Given the description of an element on the screen output the (x, y) to click on. 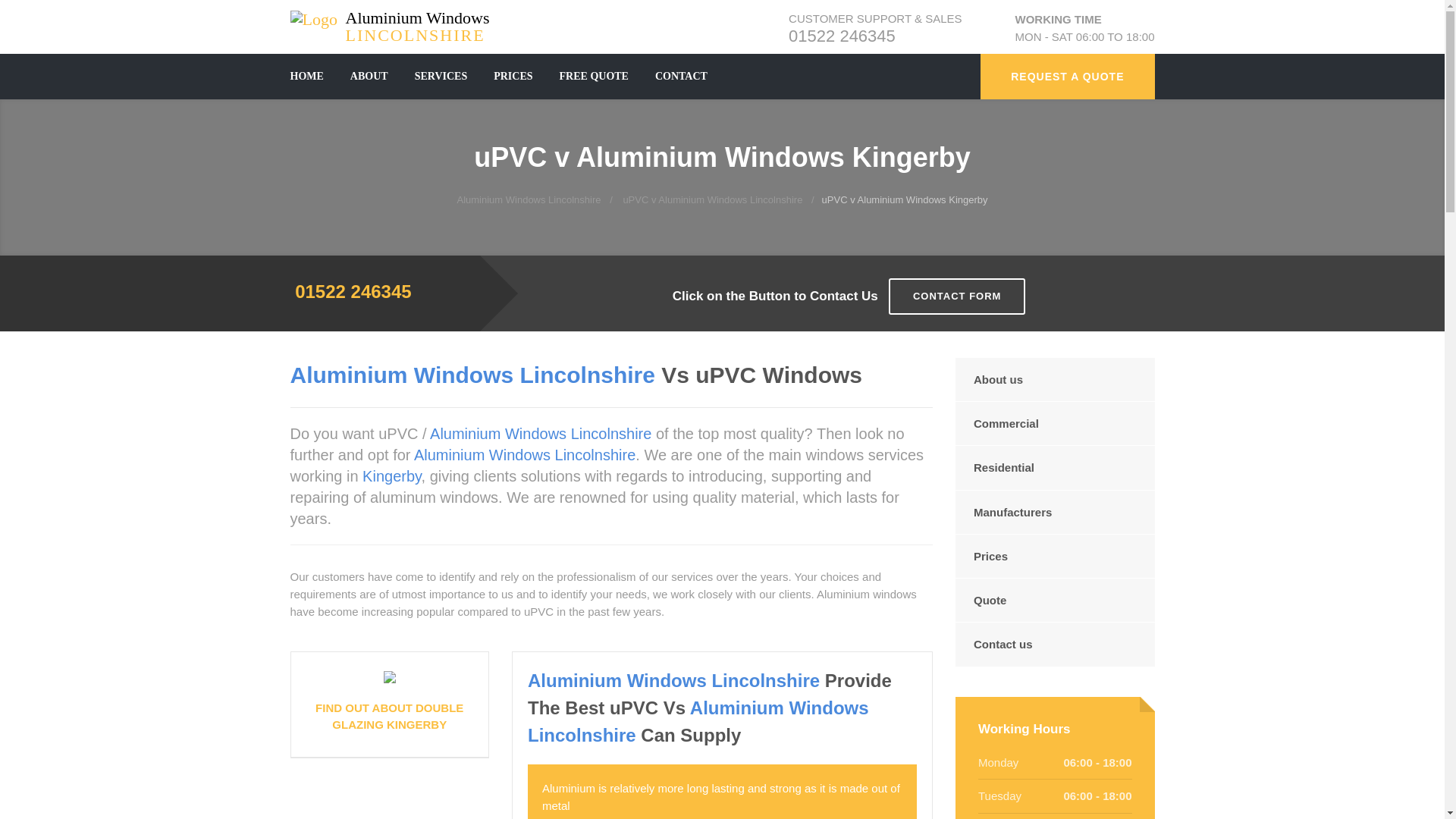
uPVC v Aluminium Windows Lincolnshire (712, 199)
01522 246345 (353, 291)
REQUEST A QUOTE (1066, 75)
Aluminium Windows Lincolnshire (528, 199)
FREE QUOTE (395, 18)
Aluminium Windows Lincolnshire (593, 75)
01522 246345 (395, 18)
CONTACT (842, 35)
CONTACT FORM (681, 75)
